Given the description of an element on the screen output the (x, y) to click on. 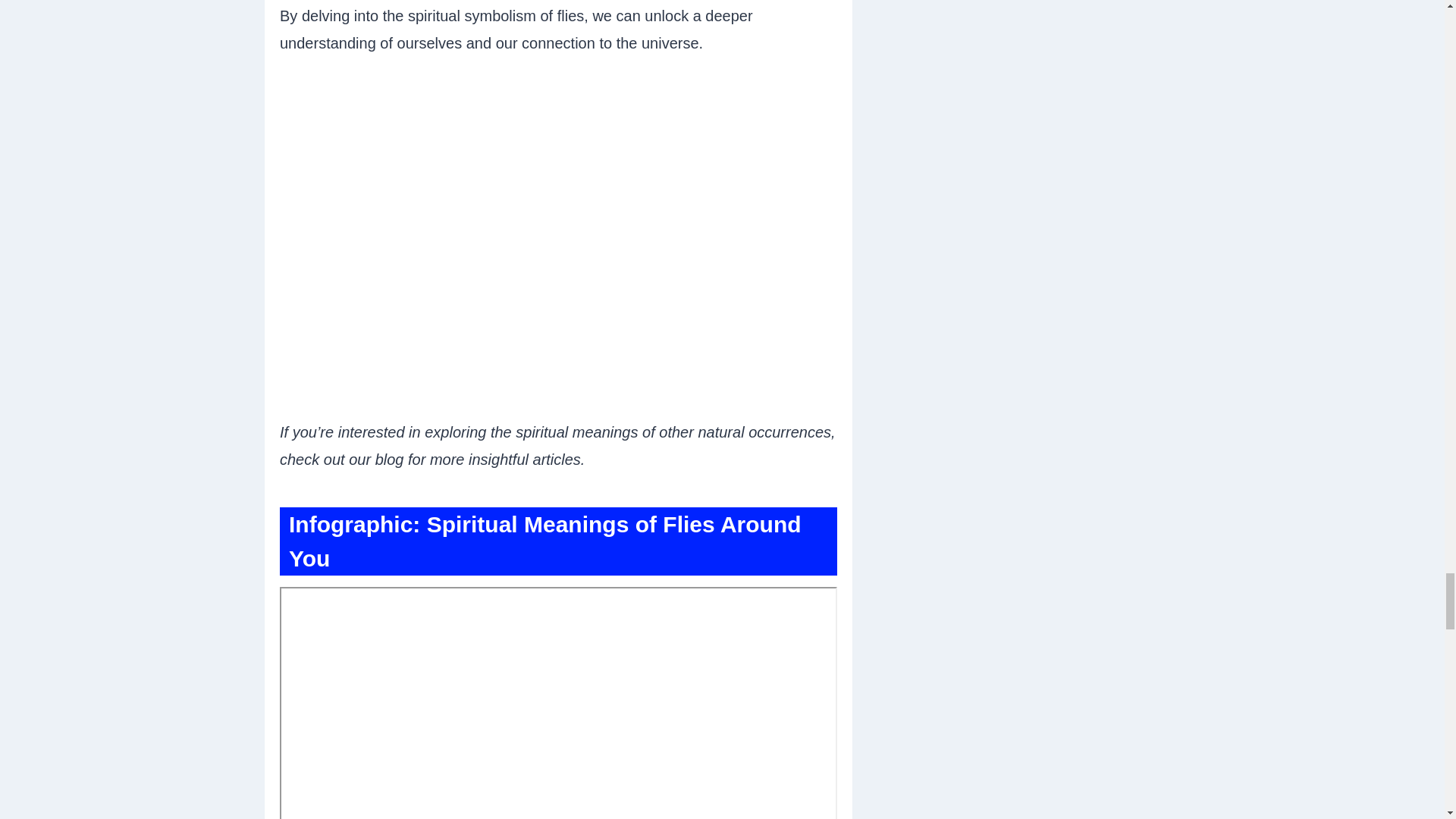
Spiritual Significance of Flies Around You (558, 703)
